Given the description of an element on the screen output the (x, y) to click on. 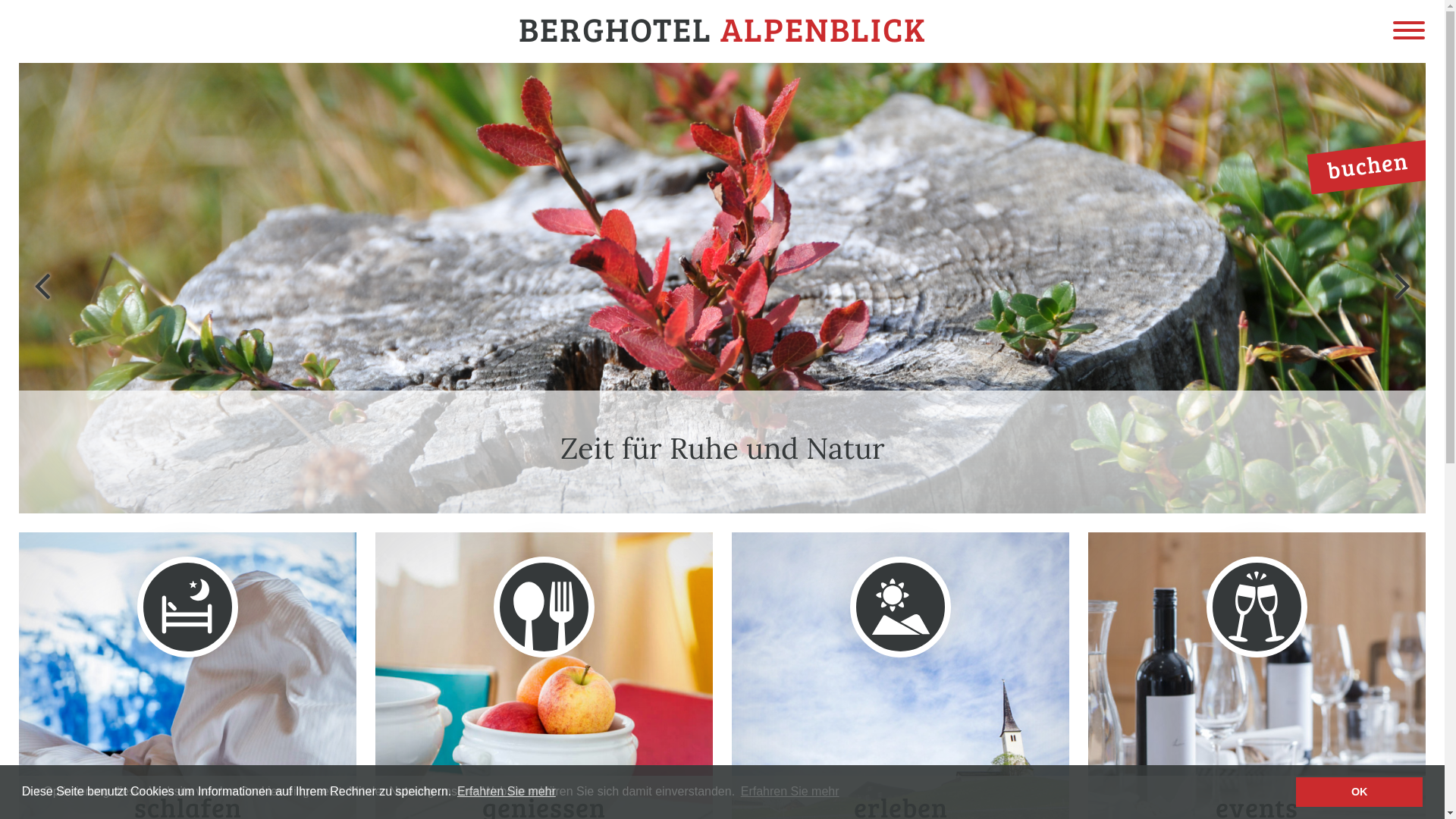
buchen Element type: text (1366, 160)
BERGHOTEL ALPENBLICK Element type: text (721, 28)
Erfahren Sie mehr Element type: text (789, 791)
OK Element type: text (1358, 791)
Erfahren Sie mehr Element type: text (506, 791)
